Given the description of an element on the screen output the (x, y) to click on. 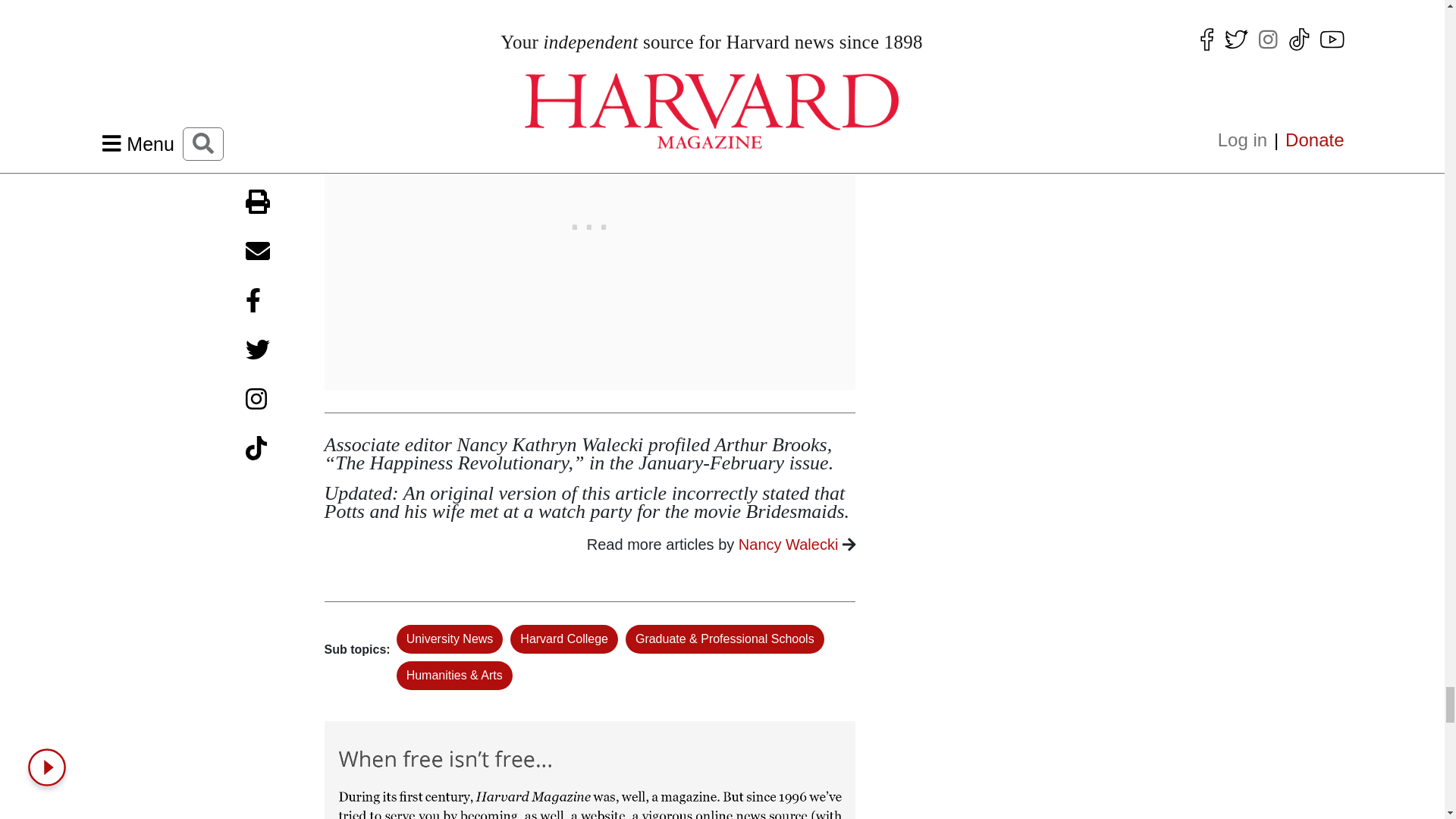
The Value of Being Informed (590, 754)
